Given the description of an element on the screen output the (x, y) to click on. 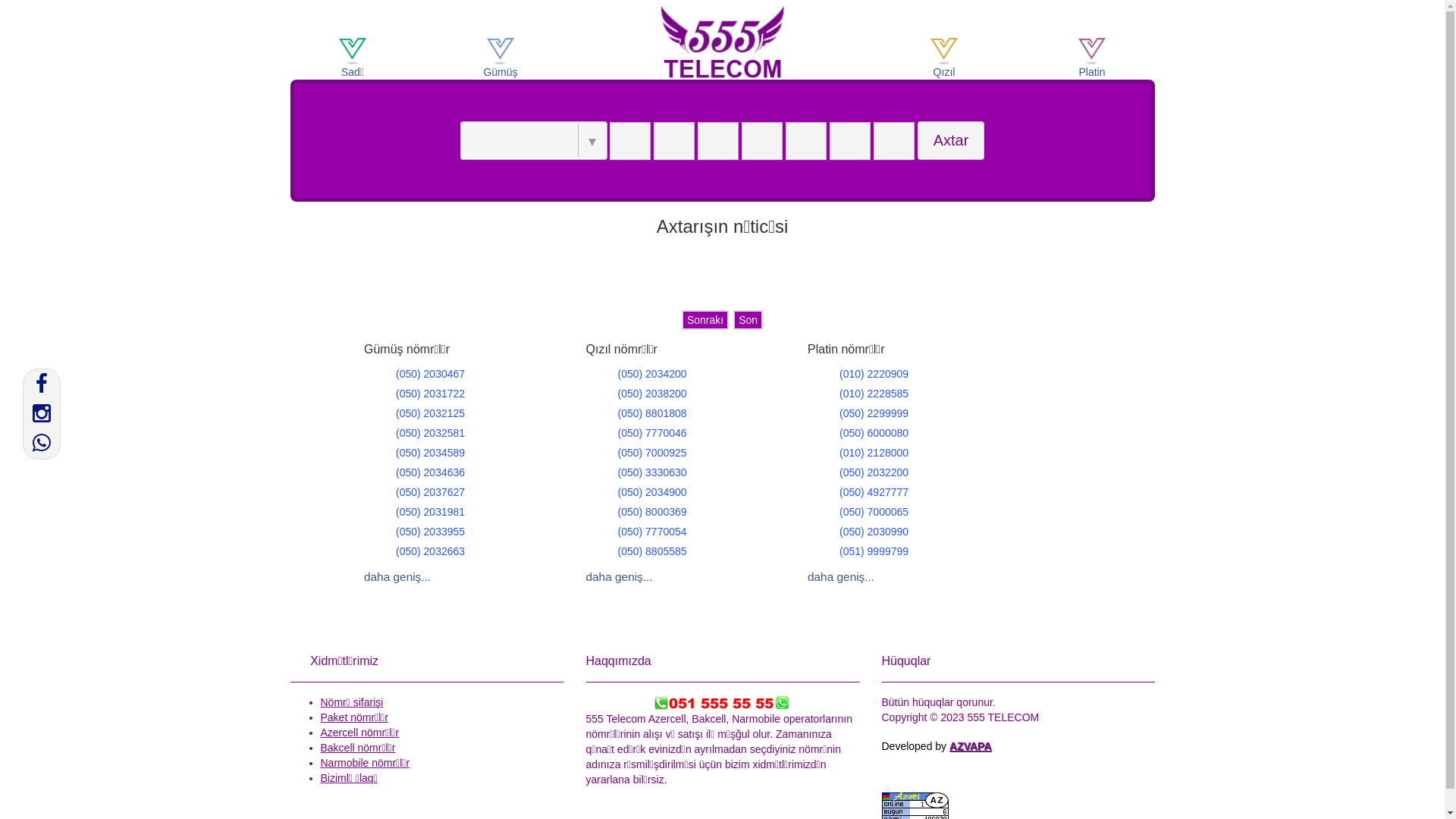
Platin Element type: text (1091, 60)
(050) 6000080 Element type: text (873, 432)
(050) 2034900 Element type: text (651, 492)
(010) 2228585 Element type: text (873, 393)
(050) 2030990 Element type: text (873, 531)
(050) 2032581 Element type: text (429, 432)
(050) 4927777 Element type: text (873, 492)
(050) 2038200 Element type: text (651, 393)
(050) 2032200 Element type: text (873, 472)
(050) 8000369 Element type: text (651, 511)
(010) 2220909 Element type: text (873, 373)
(050) 2037627 Element type: text (429, 492)
(010) 2128000 Element type: text (873, 452)
(050) 2034589 Element type: text (429, 452)
(050) 7000065 Element type: text (873, 511)
Son Element type: text (747, 319)
(050) 2033955 Element type: text (429, 531)
(050) 2030467 Element type: text (429, 373)
(050) 2034636 Element type: text (429, 472)
Axtar Element type: text (951, 140)
(050) 7770046 Element type: text (651, 432)
(050) 2031981 Element type: text (429, 511)
(050) 2031722 Element type: text (429, 393)
(050) 2299999 Element type: text (873, 413)
(050) 2032663 Element type: text (429, 551)
(050) 7770054 Element type: text (651, 531)
(050) 8805585 Element type: text (651, 551)
(050) 2034200 Element type: text (651, 373)
(050) 8801808 Element type: text (651, 413)
AZVAPA Element type: text (987, 746)
(050) 2032125 Element type: text (429, 413)
(050) 7000925 Element type: text (651, 452)
(051) 9999799 Element type: text (873, 551)
(050) 3330630 Element type: text (651, 472)
